Given the description of an element on the screen output the (x, y) to click on. 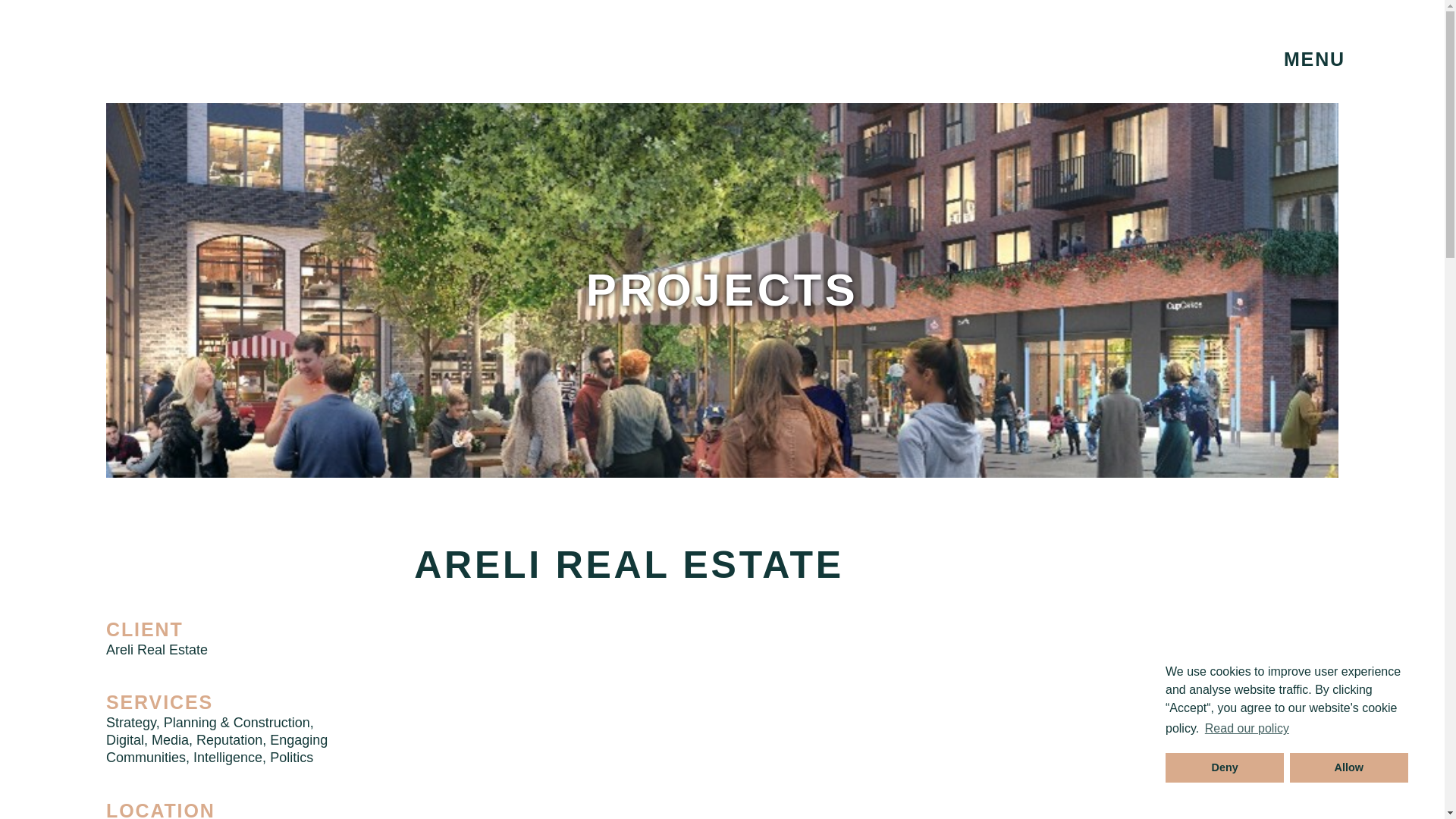
Deny (1225, 767)
Cascade (202, 63)
MENU (1314, 58)
Cascade (202, 56)
Read our policy (1247, 728)
Allow (1348, 767)
